Given the description of an element on the screen output the (x, y) to click on. 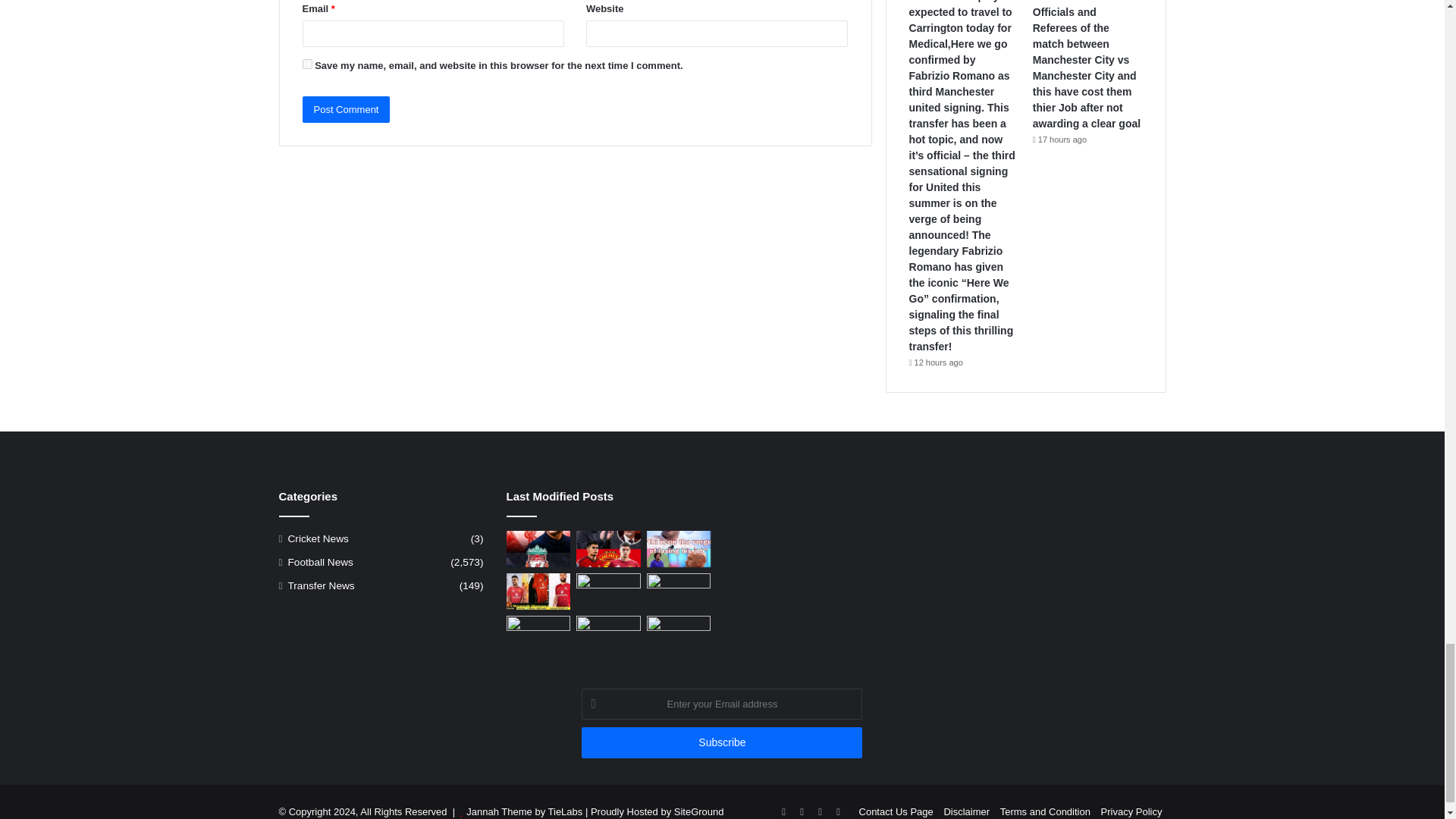
Post Comment (345, 109)
Subscribe (720, 742)
yes (306, 63)
